Given the description of an element on the screen output the (x, y) to click on. 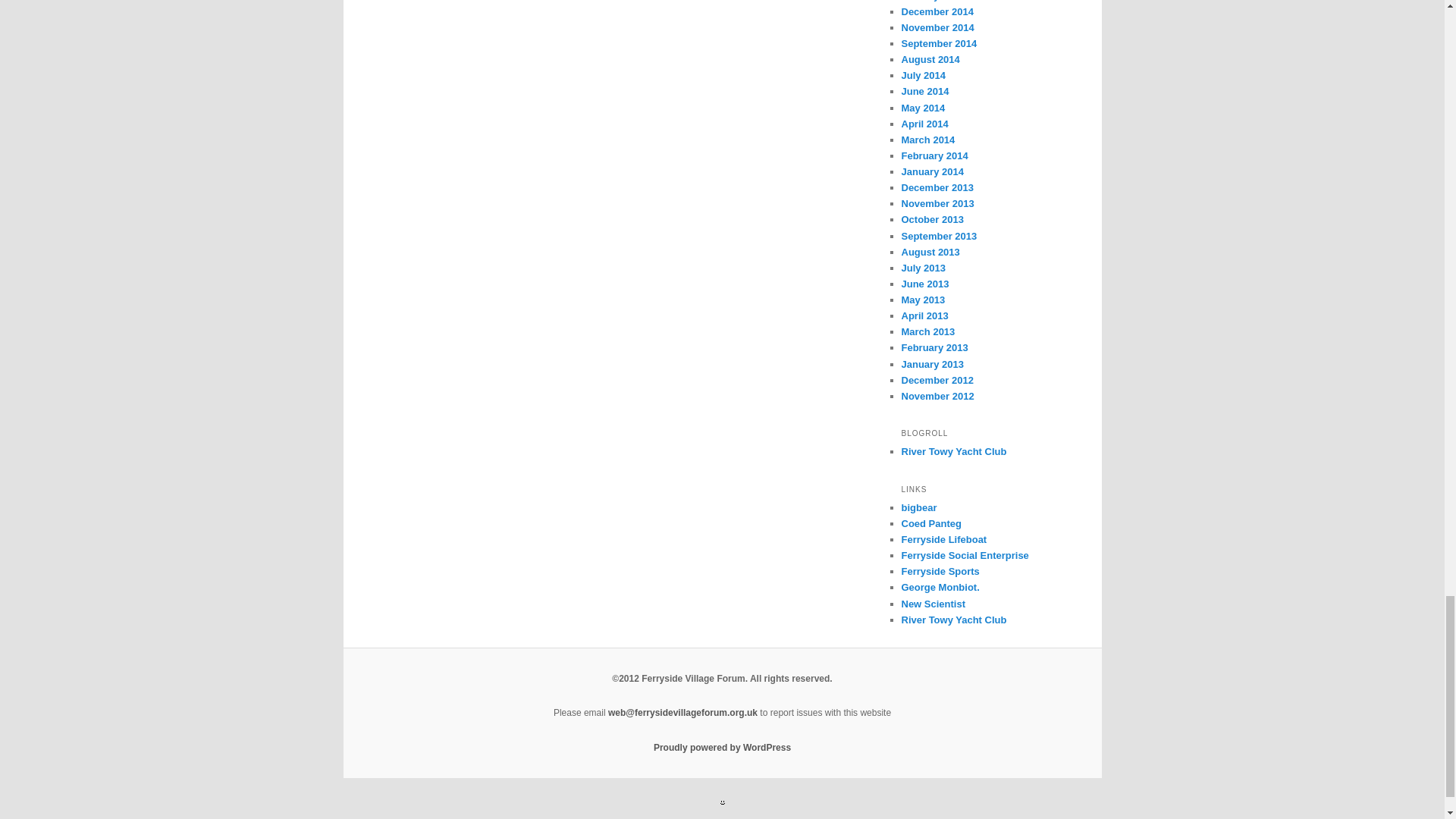
News Articles appearing in the New Scientist (933, 603)
Semantic Personal Publishing Platform (721, 747)
